Given the description of an element on the screen output the (x, y) to click on. 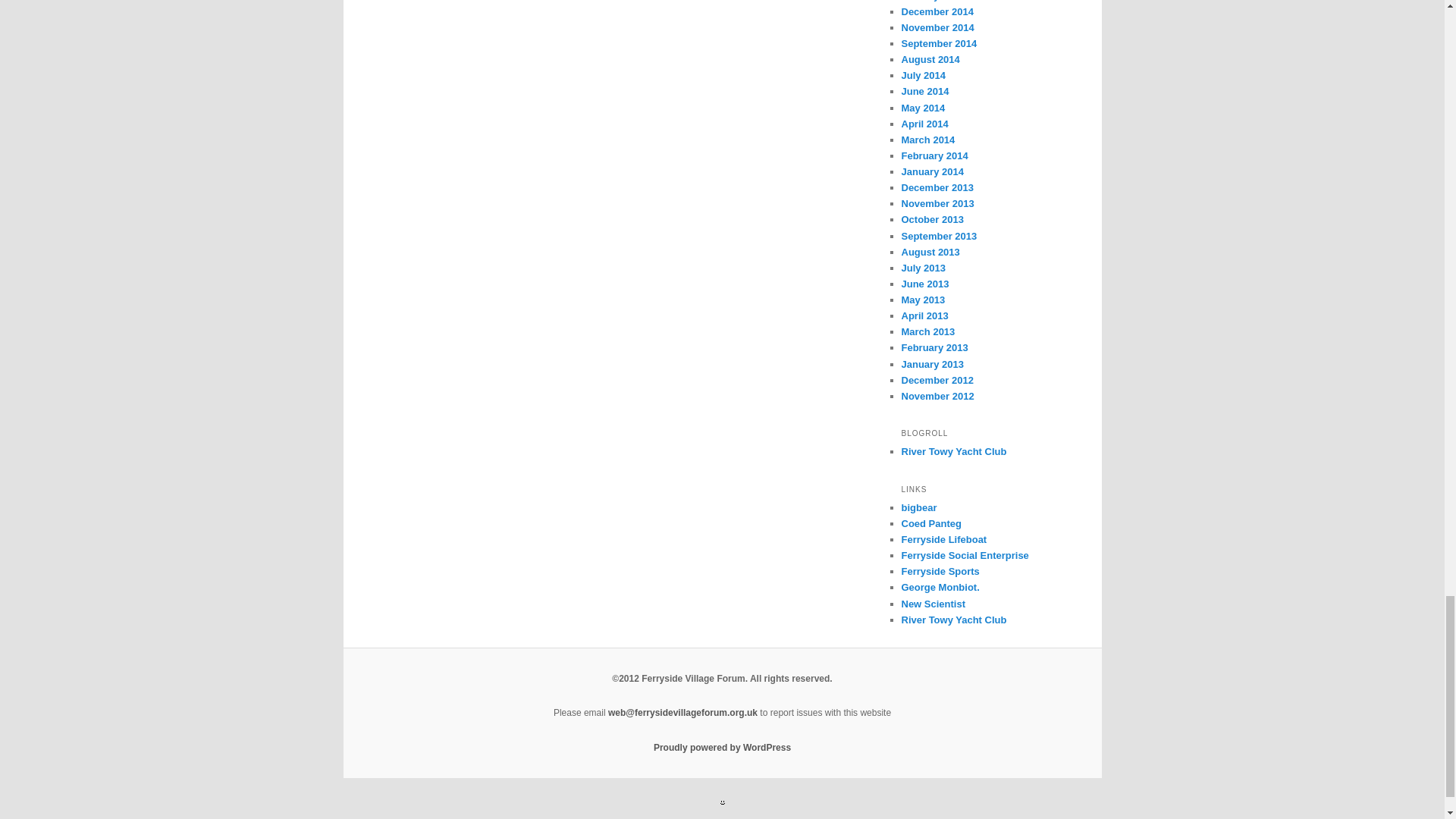
News Articles appearing in the New Scientist (933, 603)
Semantic Personal Publishing Platform (721, 747)
